Given the description of an element on the screen output the (x, y) to click on. 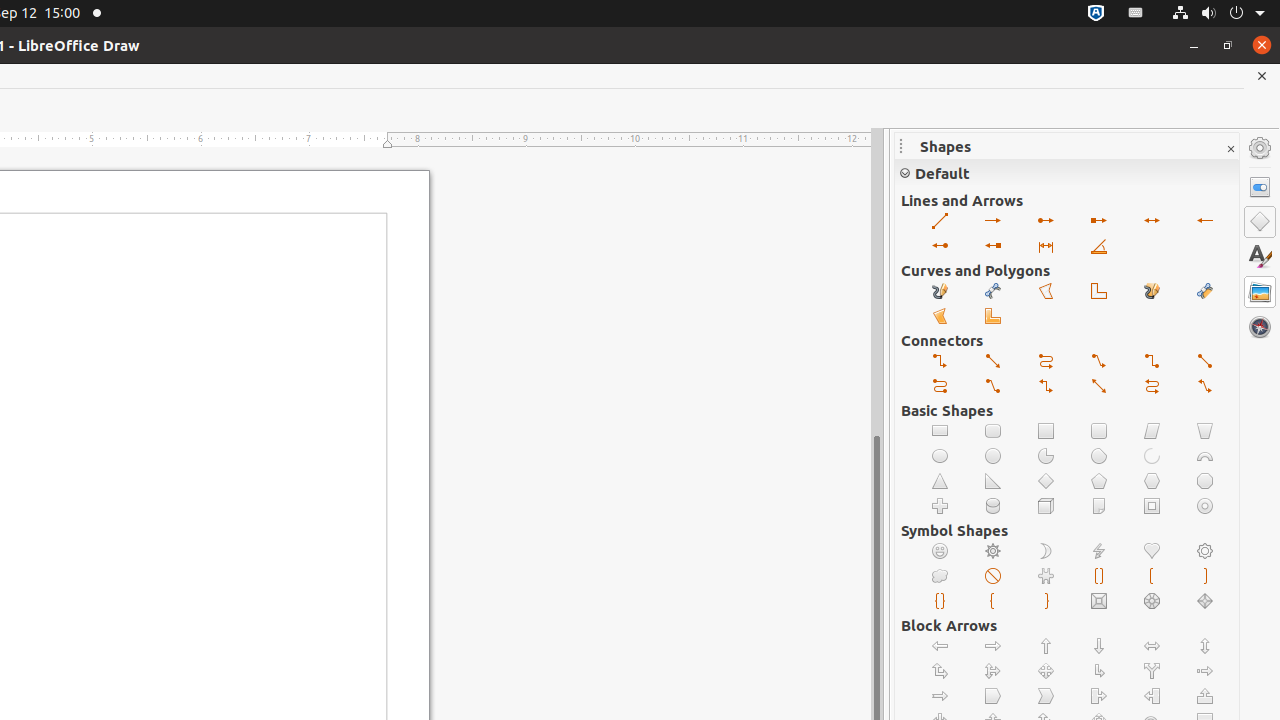
Regular Pentagon Element type: list-item (1099, 481)
Properties Element type: radio-button (1260, 187)
Pentagon Element type: list-item (993, 696)
Double Bracket Element type: list-item (1099, 576)
Line Ends with Arrow Element type: list-item (993, 221)
